Given the description of an element on the screen output the (x, y) to click on. 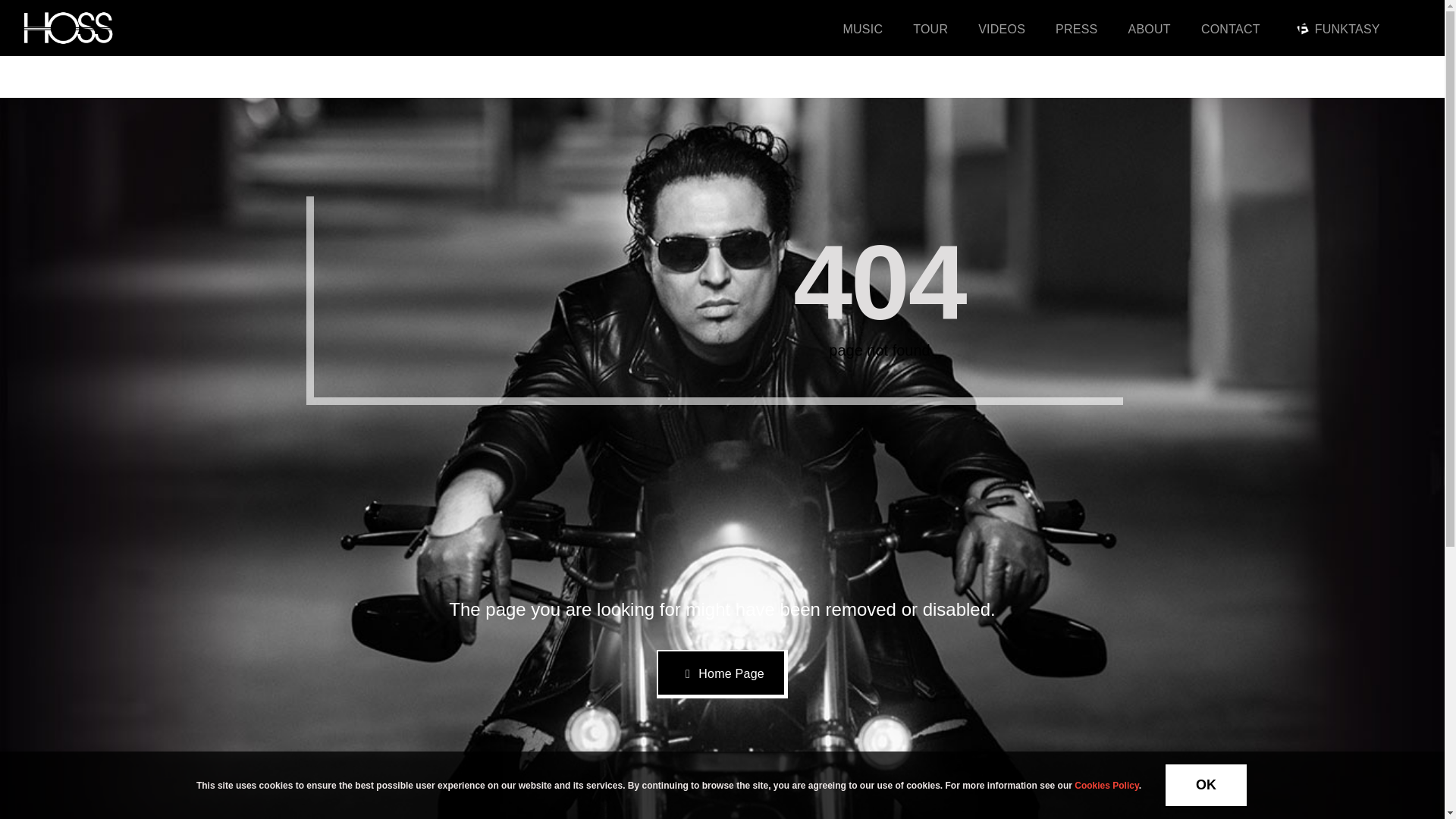
Cookies Policy (1106, 784)
Home Page (721, 674)
CONTACT (1230, 28)
VIDEOS (1001, 28)
Funktasy (1302, 28)
FUNKTASY (1335, 28)
